Given the description of an element on the screen output the (x, y) to click on. 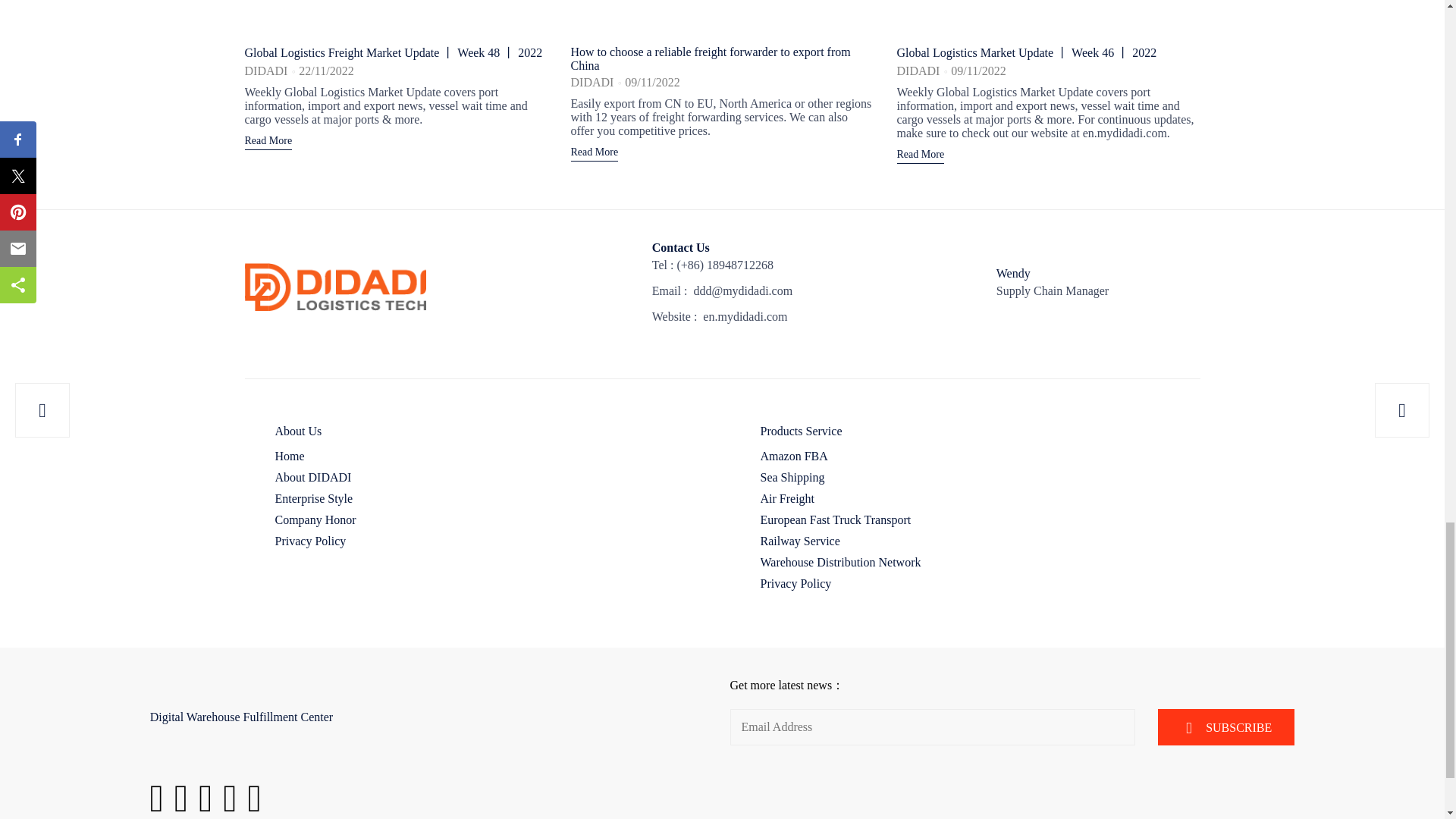
DIDADI (265, 70)
Posts by didadi (591, 82)
Posts by didadi (917, 70)
Posts by didadi (265, 70)
